Given the description of an element on the screen output the (x, y) to click on. 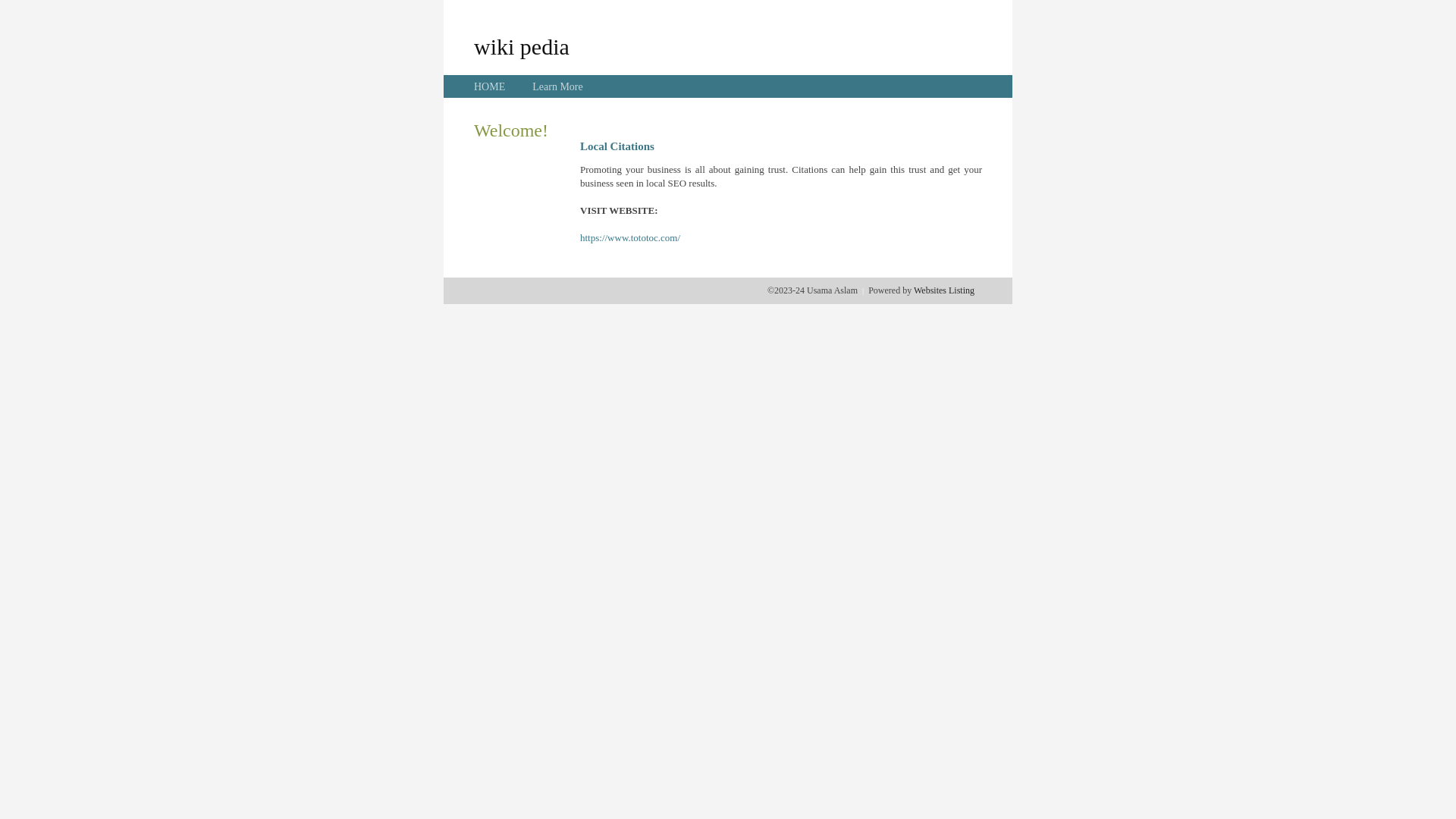
wiki pedia Element type: text (521, 46)
https://www.tototoc.com/ Element type: text (630, 237)
Websites Listing Element type: text (943, 290)
HOME Element type: text (489, 86)
Learn More Element type: text (557, 86)
